Given the description of an element on the screen output the (x, y) to click on. 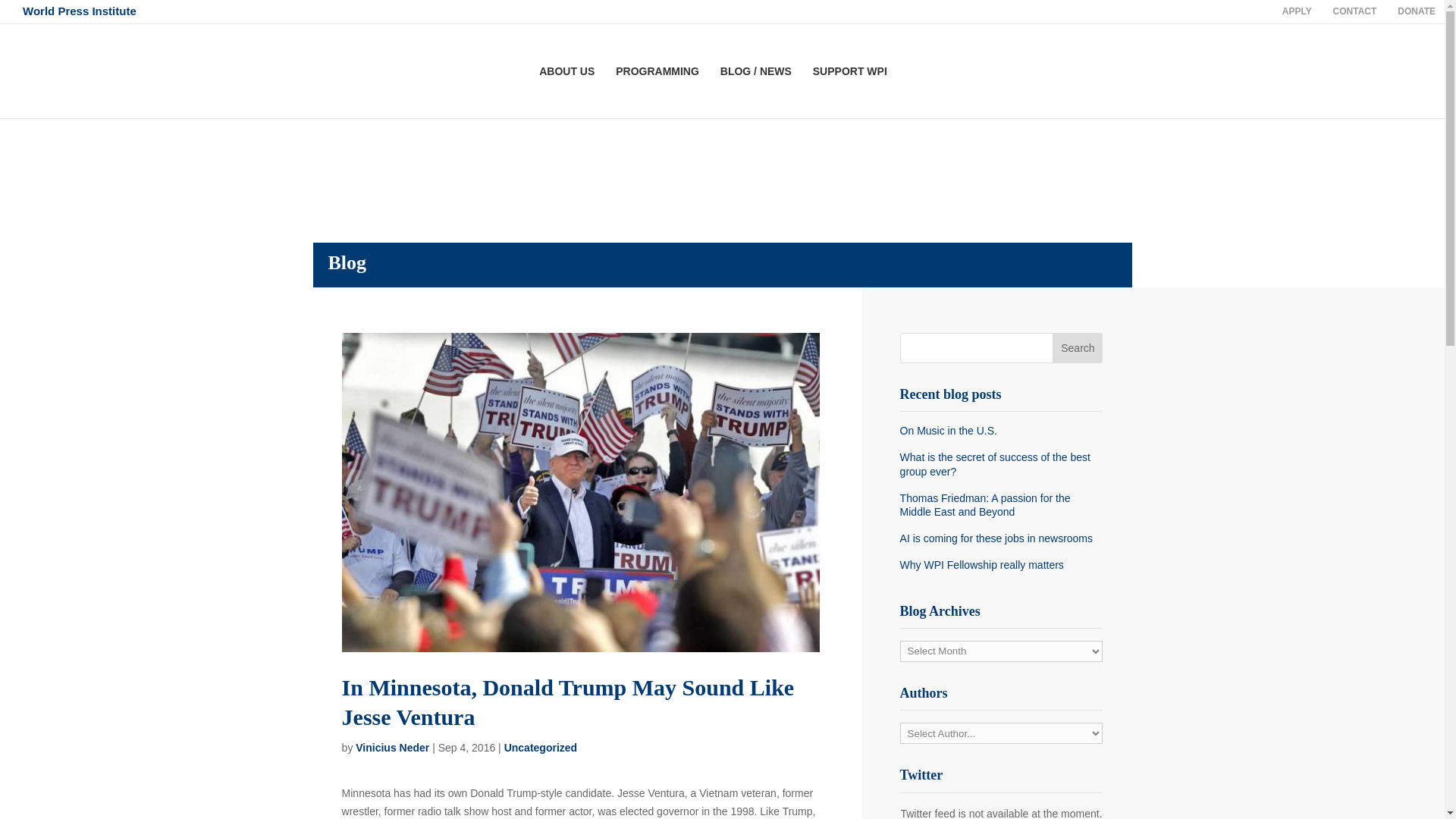
Uncategorized (539, 747)
Vinicius Neder (392, 747)
Why WPI Fellowship really matters (1001, 564)
Thomas Friedman: A passion for the Middle East and Beyond (1001, 504)
Search (1077, 347)
On Music in the U.S. (1001, 430)
World Press Institute (79, 10)
SUPPORT WPI (849, 91)
APPLY (1296, 11)
CONTACT (1354, 11)
ABOUT US (566, 91)
Posts by Vinicius Neder (392, 747)
Search (1077, 347)
PROGRAMMING (656, 91)
What is the secret of success of the best group ever? (1001, 463)
